Given the description of an element on the screen output the (x, y) to click on. 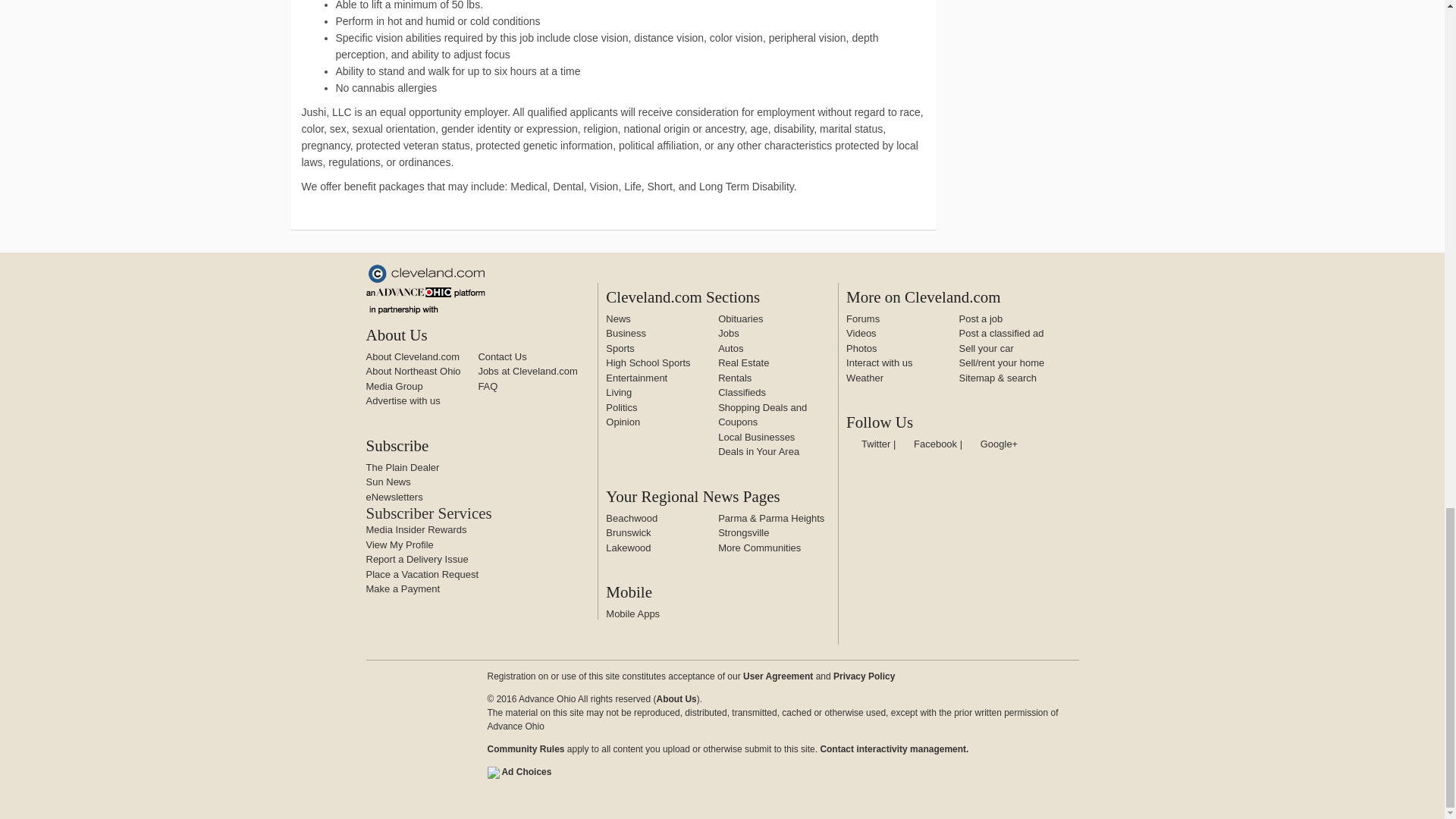
Contact Us (501, 356)
Community Rules (893, 748)
User Agreement (777, 675)
Community Rules (525, 748)
Privacy Policy (863, 675)
FAQ (487, 385)
